Given the description of an element on the screen output the (x, y) to click on. 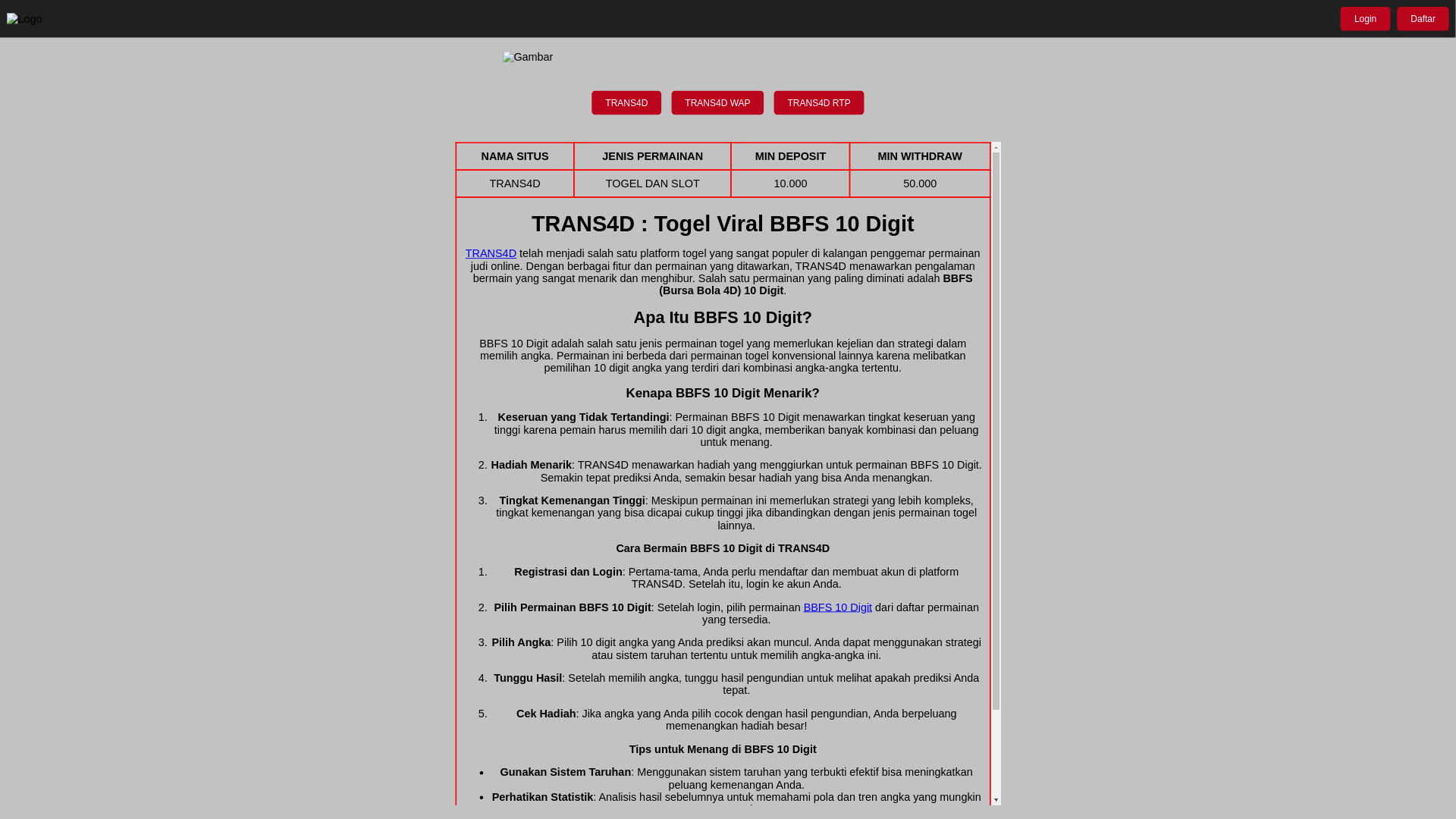
Login (1368, 19)
TRANS4D (629, 103)
TRANS4D (629, 102)
BBFS 10 Digit (841, 607)
Daftar (1425, 19)
TRANS4D (493, 254)
TRANS4D WAP (722, 102)
TRANS4D RTP (824, 103)
TRANS4D WAP (722, 103)
TRANS4D RTP (824, 102)
